Given the description of an element on the screen output the (x, y) to click on. 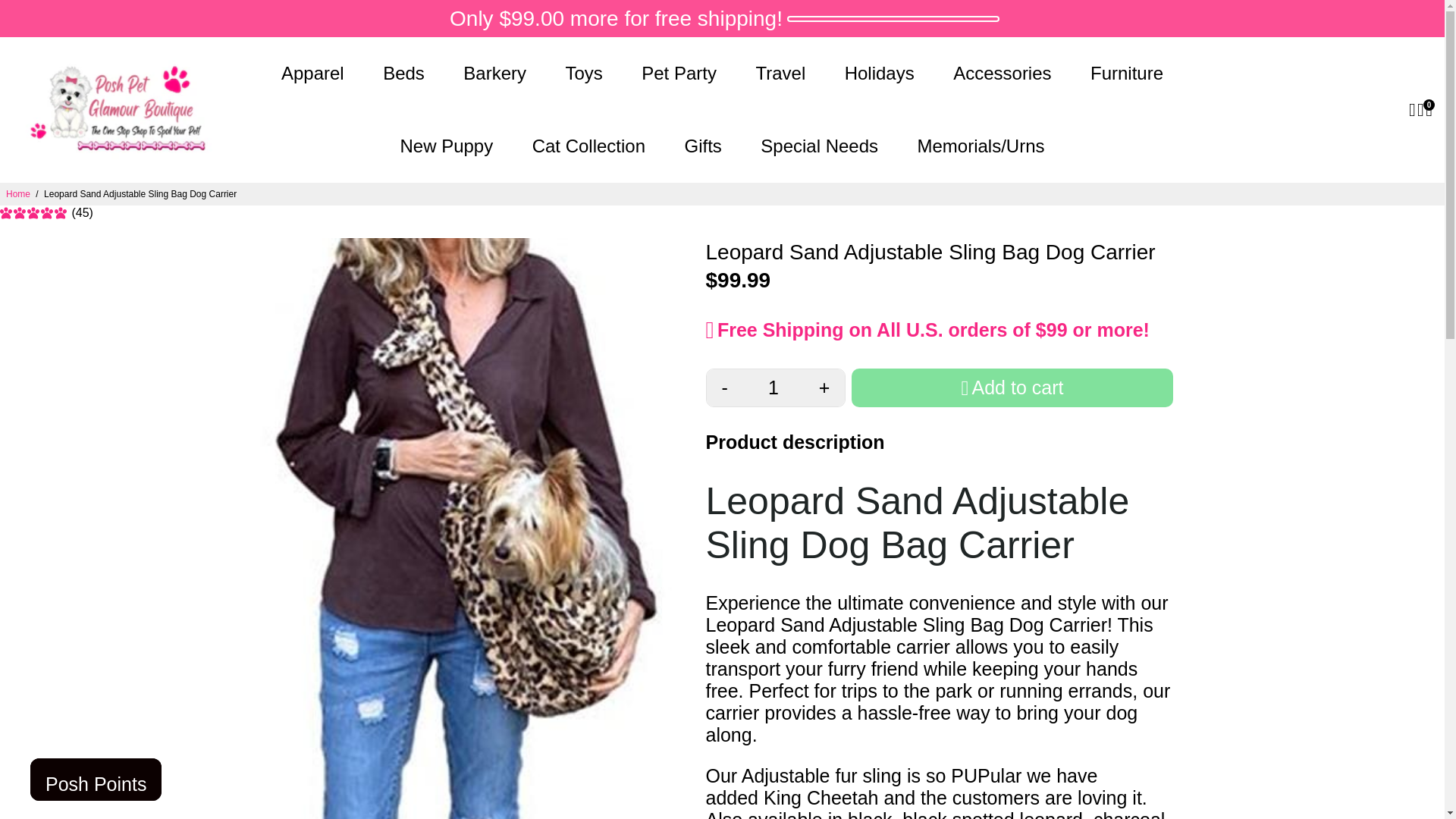
Special Needs (819, 145)
Holidays (879, 72)
New Puppy (446, 145)
Beds (403, 72)
Barkery (494, 72)
Furniture (1126, 72)
Travel (780, 72)
Cat Collection (588, 145)
Pet Party (679, 72)
Accessories (1001, 72)
Toys (583, 72)
Gifts (702, 145)
Home (17, 194)
1 (772, 388)
Apparel (312, 72)
